Given the description of an element on the screen output the (x, y) to click on. 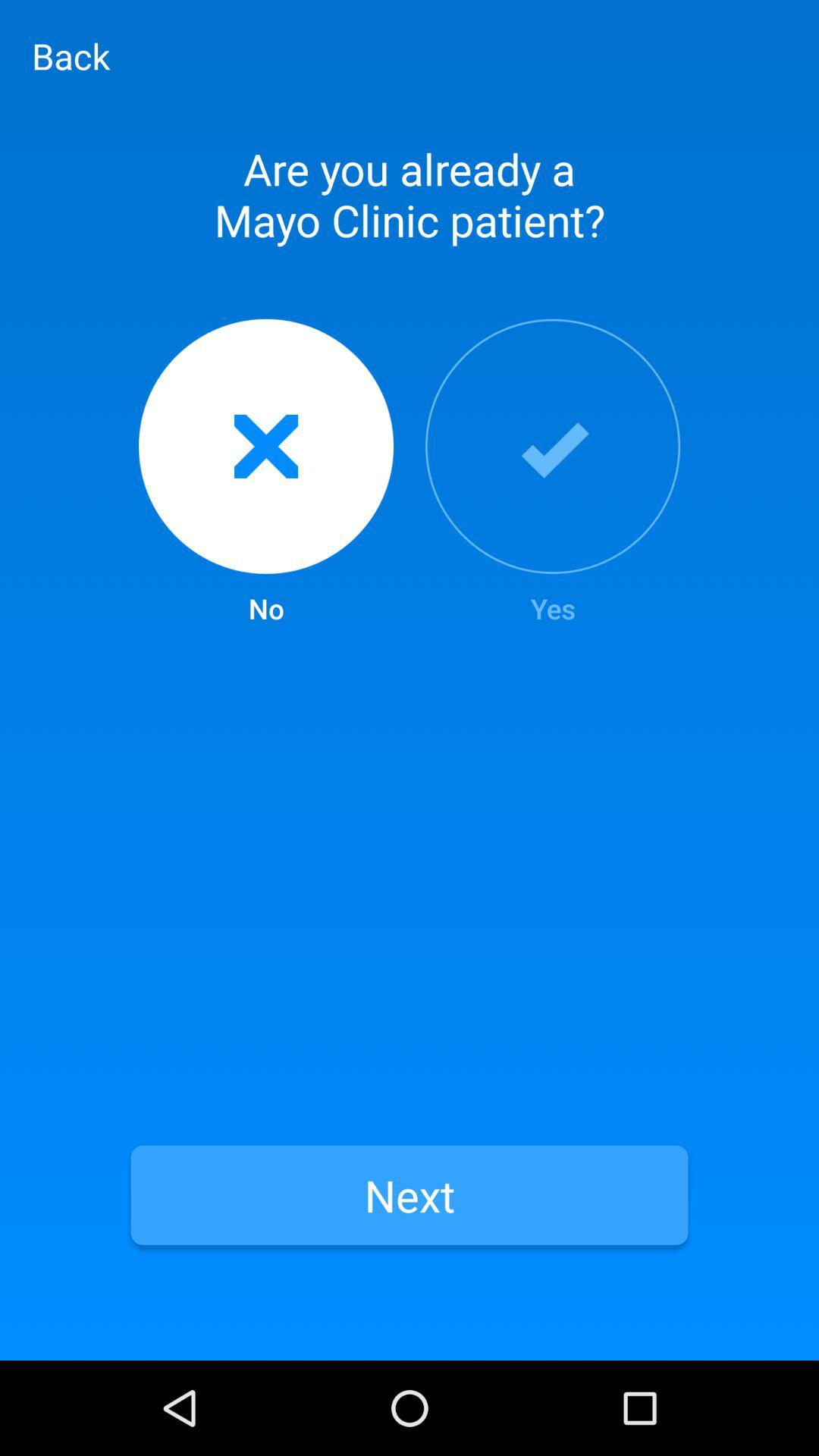
flip until the no (265, 473)
